Given the description of an element on the screen output the (x, y) to click on. 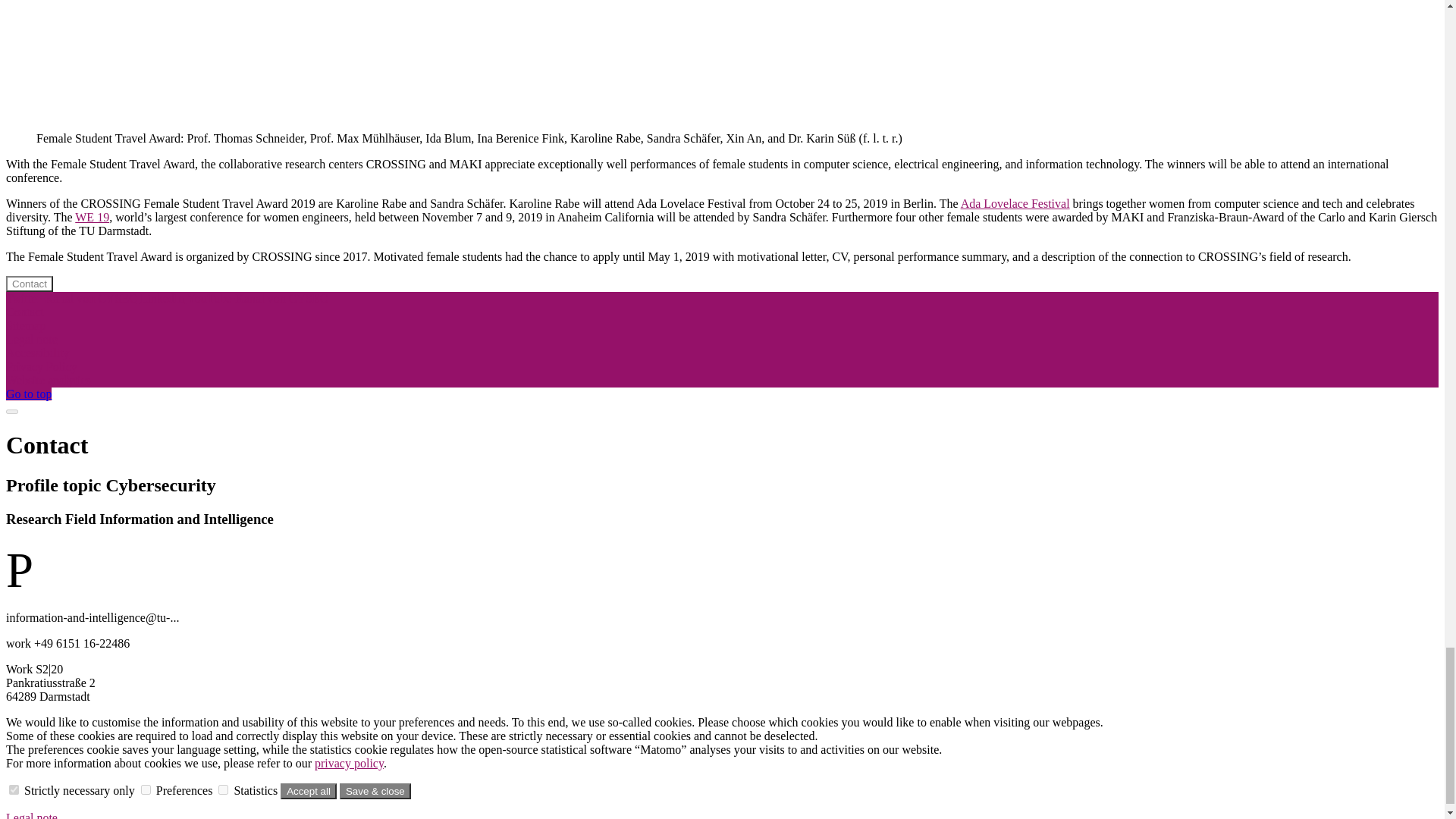
statistics (223, 789)
essential (13, 789)
Twitter-Kanal von CYSEC (72, 297)
usability (146, 789)
